Given the description of an element on the screen output the (x, y) to click on. 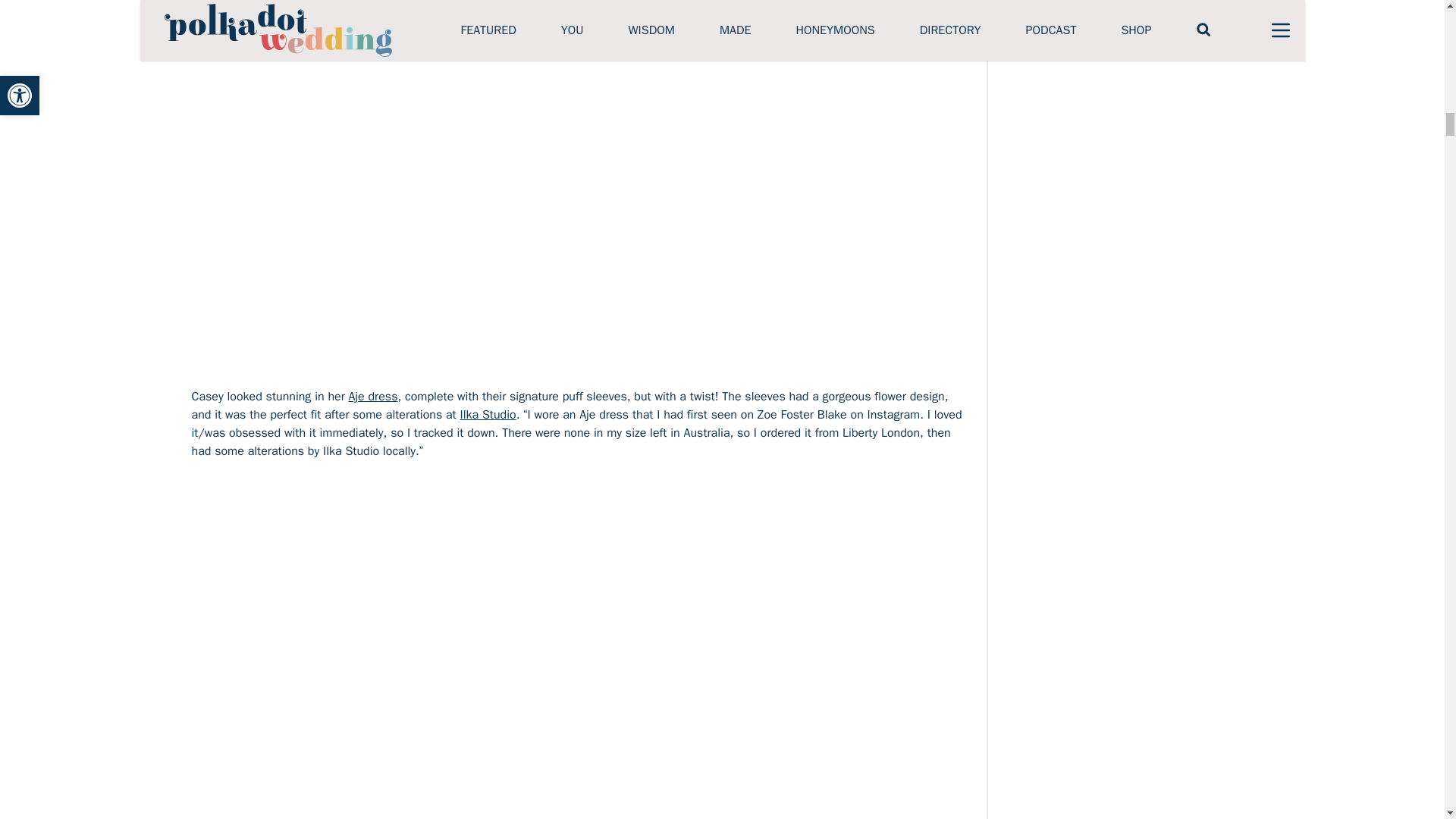
Ilka Studio (488, 414)
Aje dress (373, 396)
